Given the description of an element on the screen output the (x, y) to click on. 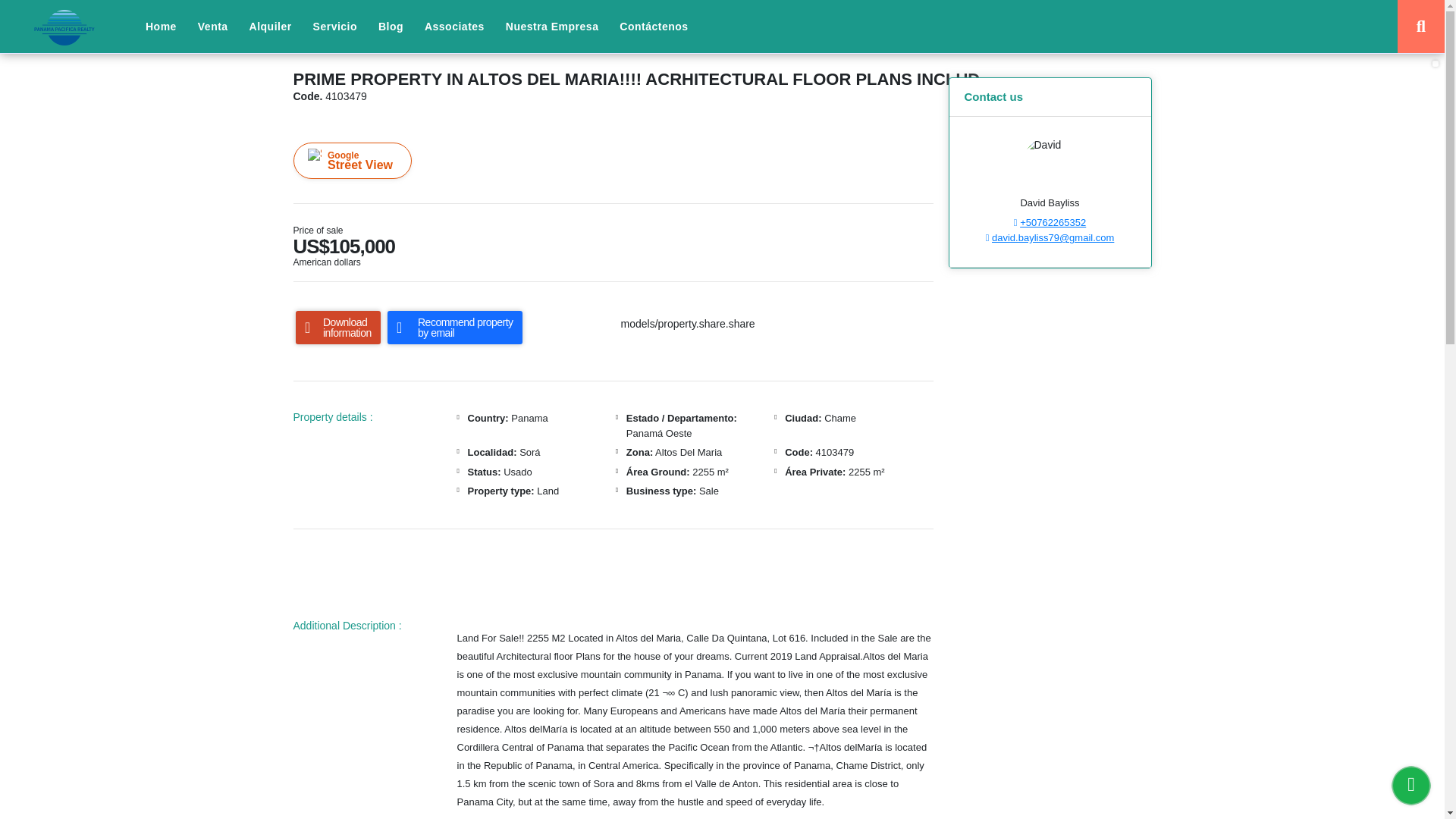
Company Logo (63, 27)
Servicio (335, 26)
Home (161, 26)
Associates (453, 26)
Venta (213, 26)
Nuestra Empresa (552, 26)
Alquiler (270, 26)
Street View (351, 160)
